Given the description of an element on the screen output the (x, y) to click on. 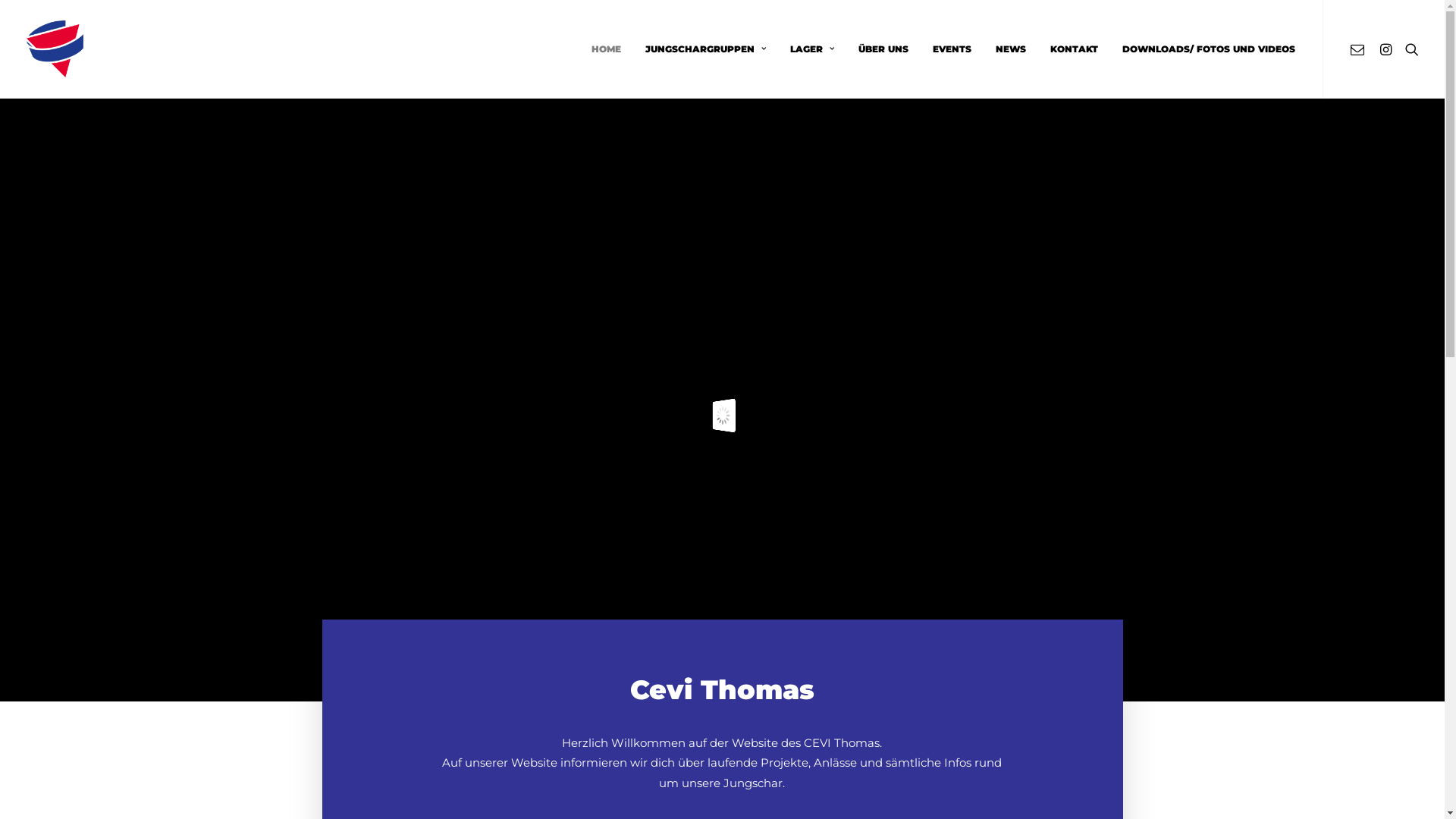
LAGER Element type: text (811, 48)
DOWNLOADS/ FOTOS UND VIDEOS Element type: text (1203, 48)
JUNGSCHARGRUPPEN Element type: text (704, 48)
KONTAKT Element type: text (1072, 48)
NEWS Element type: text (1009, 48)
EVENTS Element type: text (952, 48)
HOME Element type: text (605, 48)
